Given the description of an element on the screen output the (x, y) to click on. 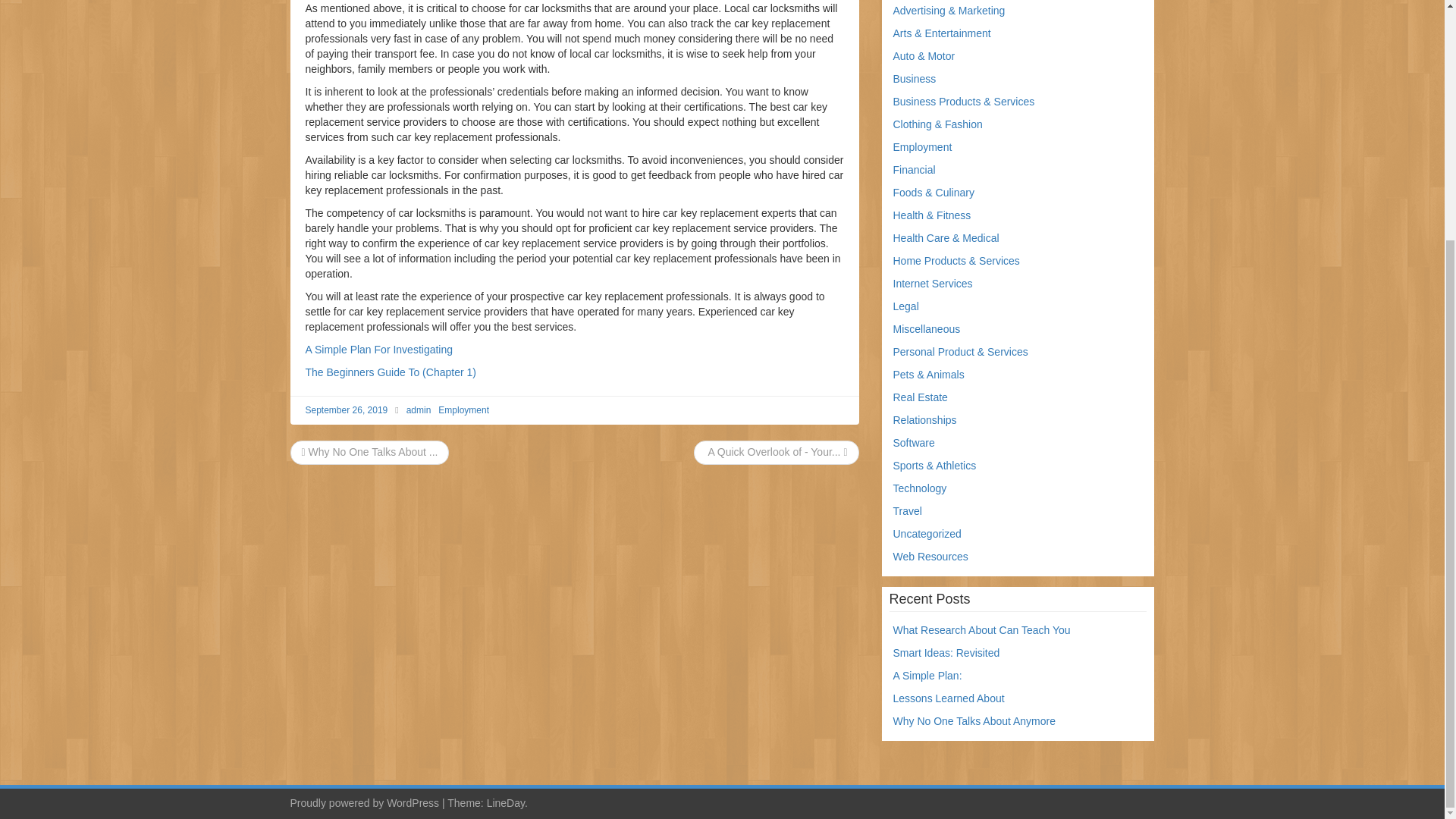
 A Quick Overlook of - Your...  (775, 451)
Uncategorized (926, 533)
Smart Ideas: Revisited (946, 653)
Software (913, 442)
Financial (914, 169)
Employment (463, 409)
Internet Services (932, 283)
Employment (922, 146)
admin (418, 409)
Miscellaneous (926, 328)
Web Resources (930, 556)
Travel (907, 510)
A Simple Plan For Investigating (378, 349)
Legal (905, 306)
Business (914, 78)
